Given the description of an element on the screen output the (x, y) to click on. 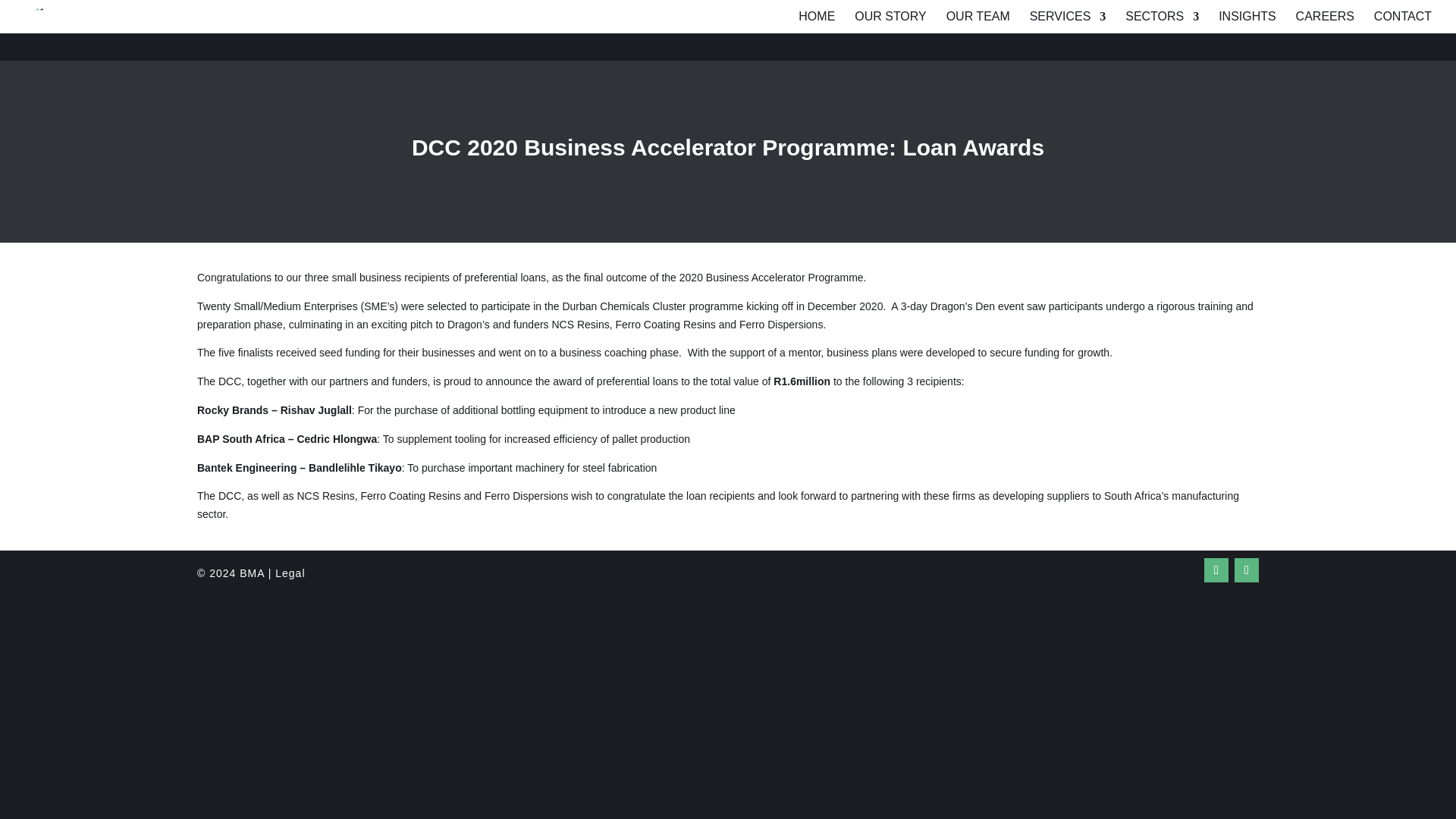
Legal (289, 573)
INSIGHTS (1247, 19)
CAREERS (1324, 19)
HOME (815, 19)
OUR TEAM (978, 19)
Follow on LinkedIn (1246, 569)
OUR STORY (890, 19)
SERVICES (1067, 19)
Follow on Facebook (1216, 569)
CONTACT (1402, 19)
SECTORS (1161, 19)
